Given the description of an element on the screen output the (x, y) to click on. 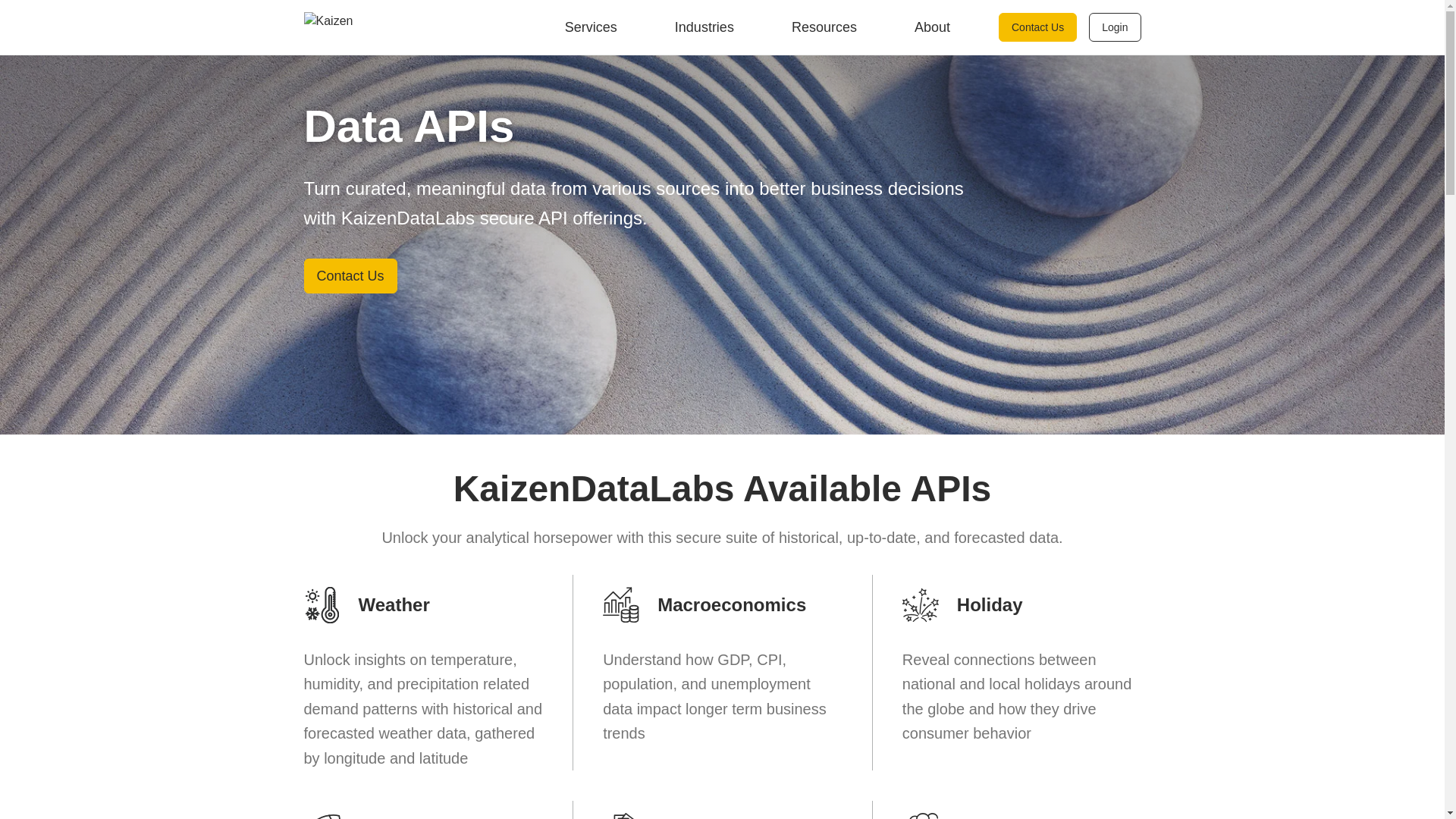
Contact Us (349, 276)
About (927, 27)
Resources (820, 27)
Contact Us (1043, 27)
Contact Us (1037, 27)
Contact Us (349, 275)
Services (586, 27)
Kaizen (327, 27)
Login (1114, 27)
Industries (699, 27)
